Given the description of an element on the screen output the (x, y) to click on. 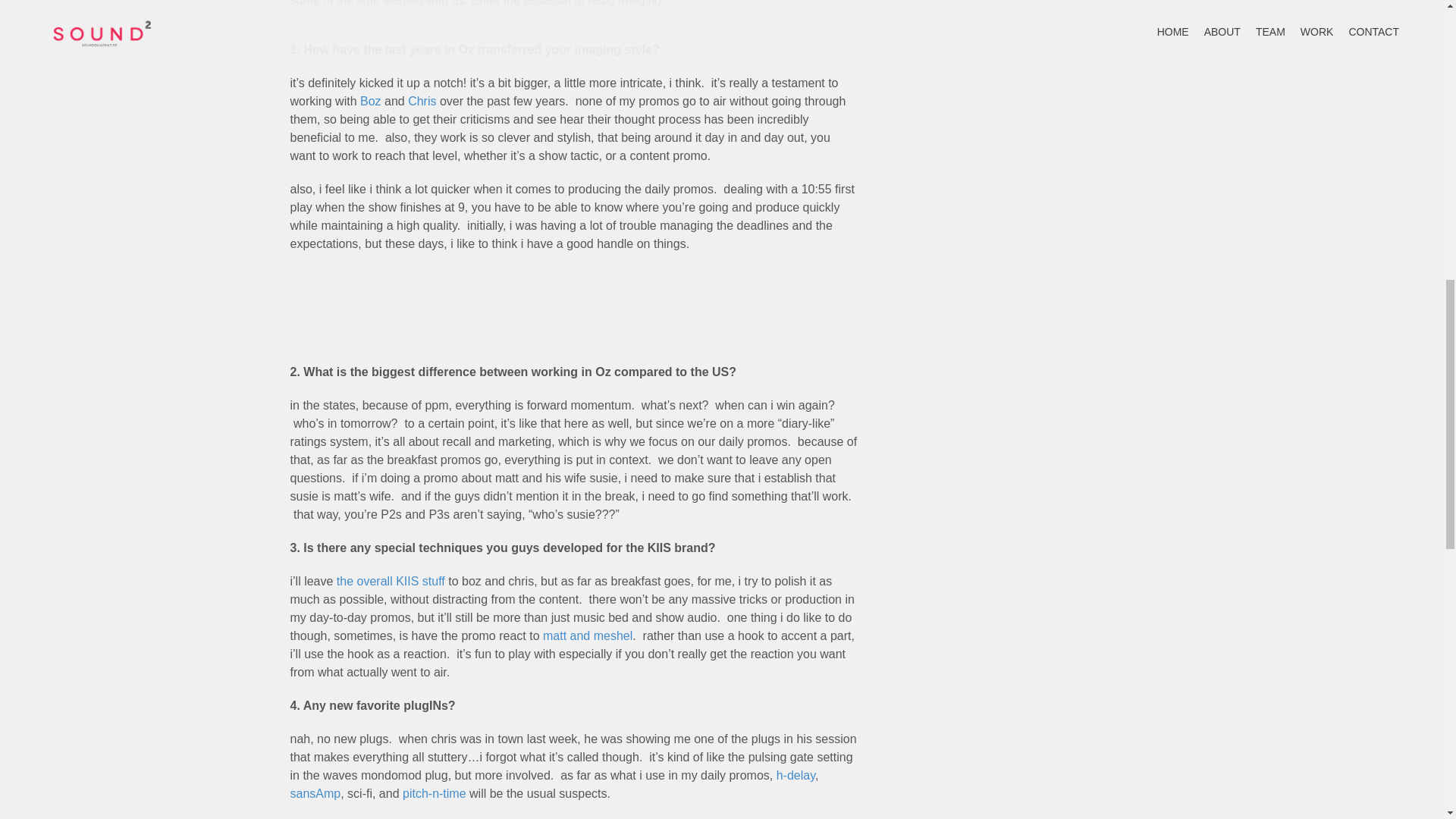
Boz (370, 101)
the overall KIIS stuff (390, 581)
h-delay (795, 775)
Chris (421, 101)
sansAmp (314, 793)
matt and meshel (587, 635)
pitch-n-time (434, 793)
